Given the description of an element on the screen output the (x, y) to click on. 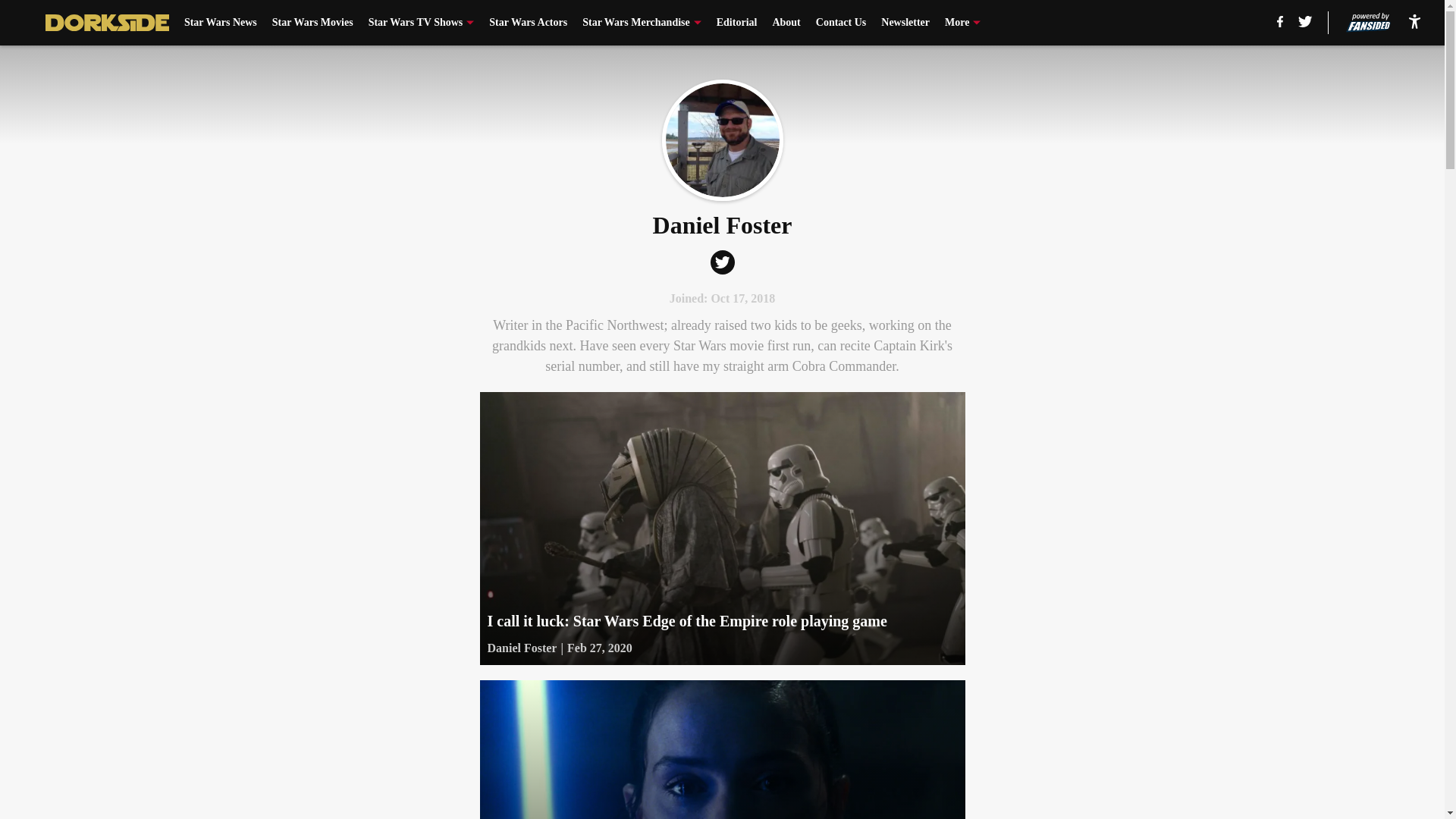
Editorial (736, 22)
Star Wars Movies (312, 22)
Daniel Foster (721, 140)
About (785, 22)
Star Wars Merchandise (641, 22)
Daniel Foster (521, 648)
Star Wars TV Shows (421, 22)
Star Wars News (220, 22)
Newsletter (905, 22)
